Given the description of an element on the screen output the (x, y) to click on. 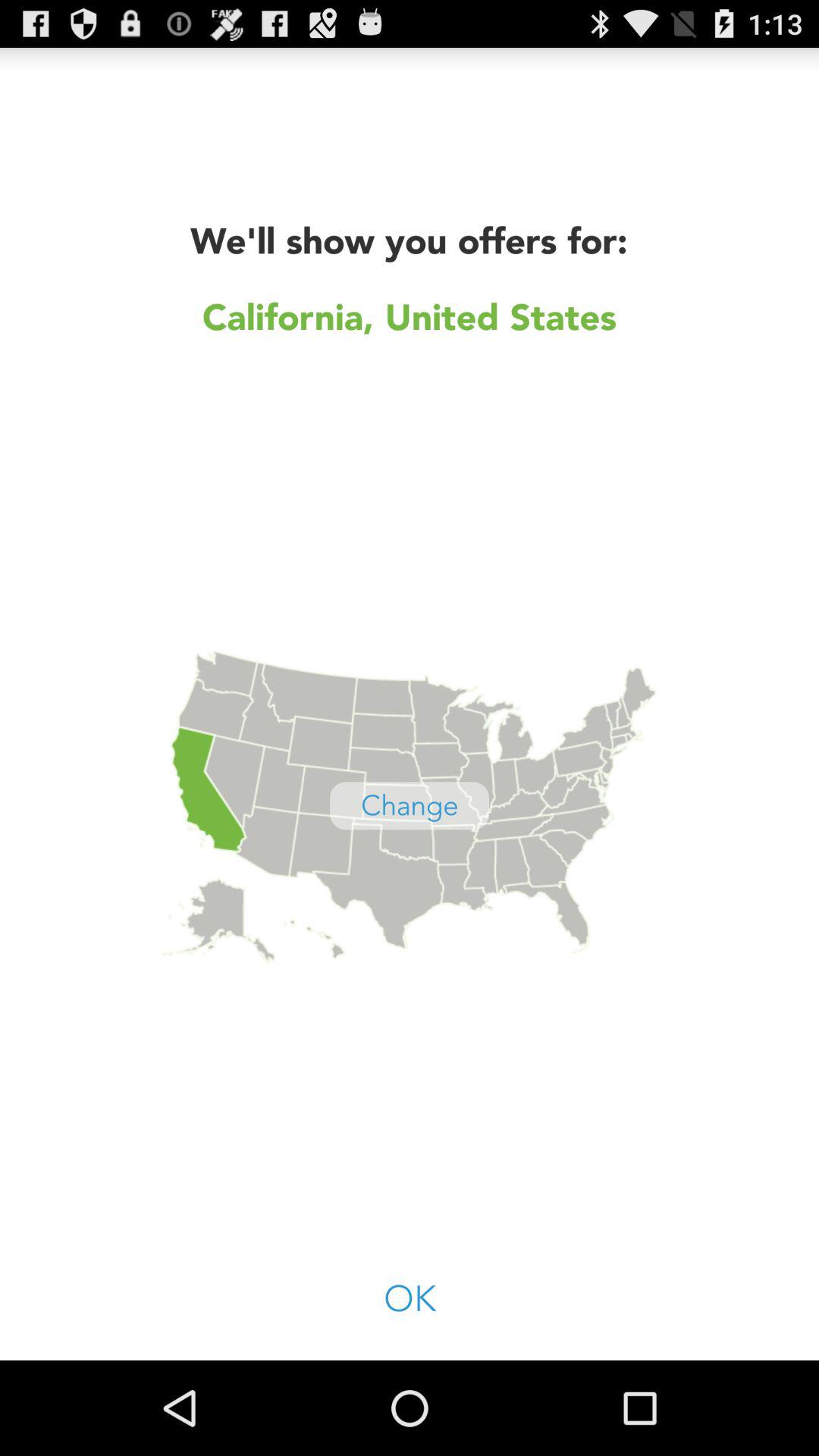
choose the app below california, united states icon (409, 805)
